Given the description of an element on the screen output the (x, y) to click on. 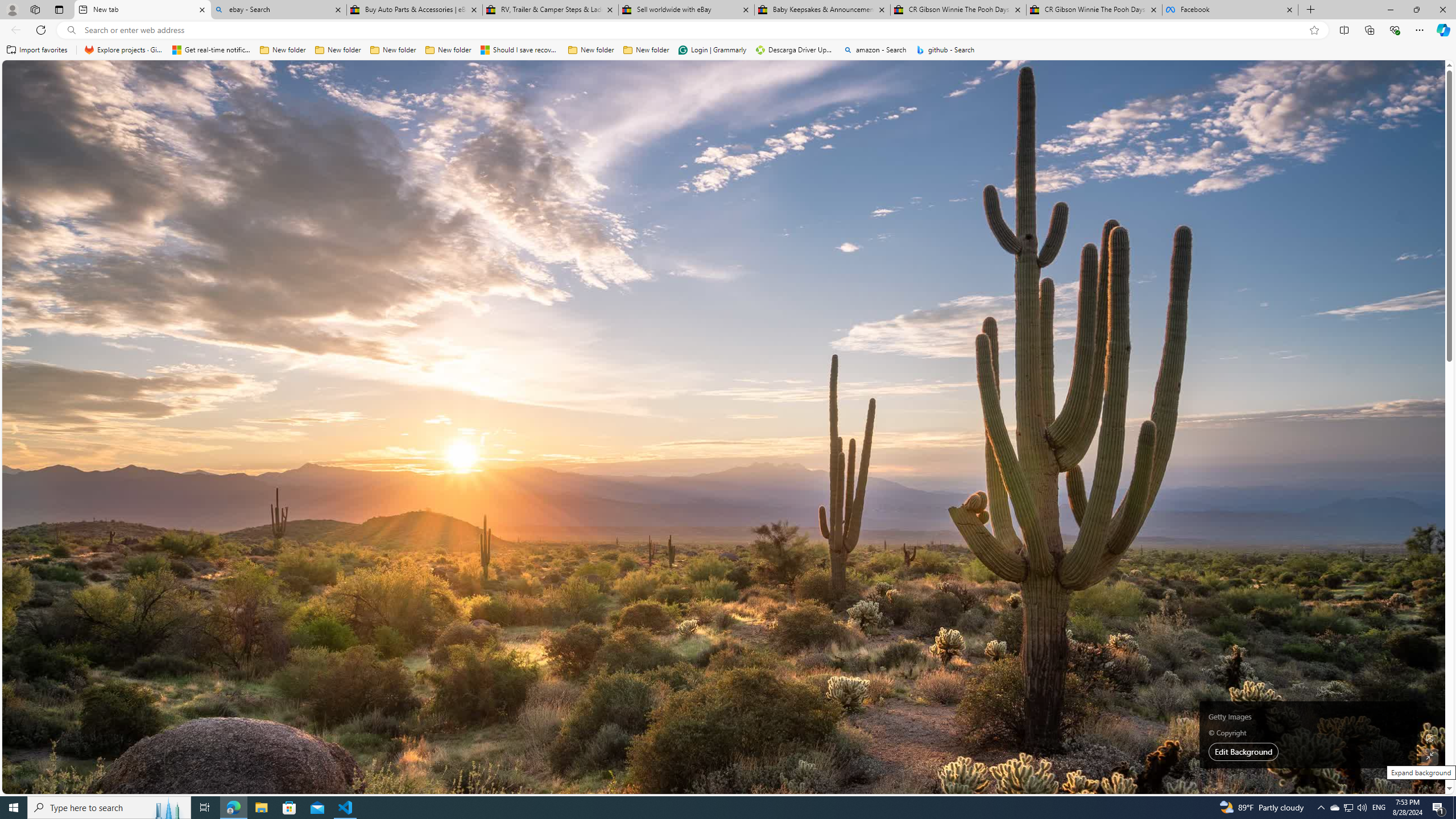
AutomationID: tab-29 (497, 328)
Hourly (1018, 233)
AutomationID: tab-27 (481, 328)
Chaisaeng Palace Hotel (1078, 436)
